Given the description of an element on the screen output the (x, y) to click on. 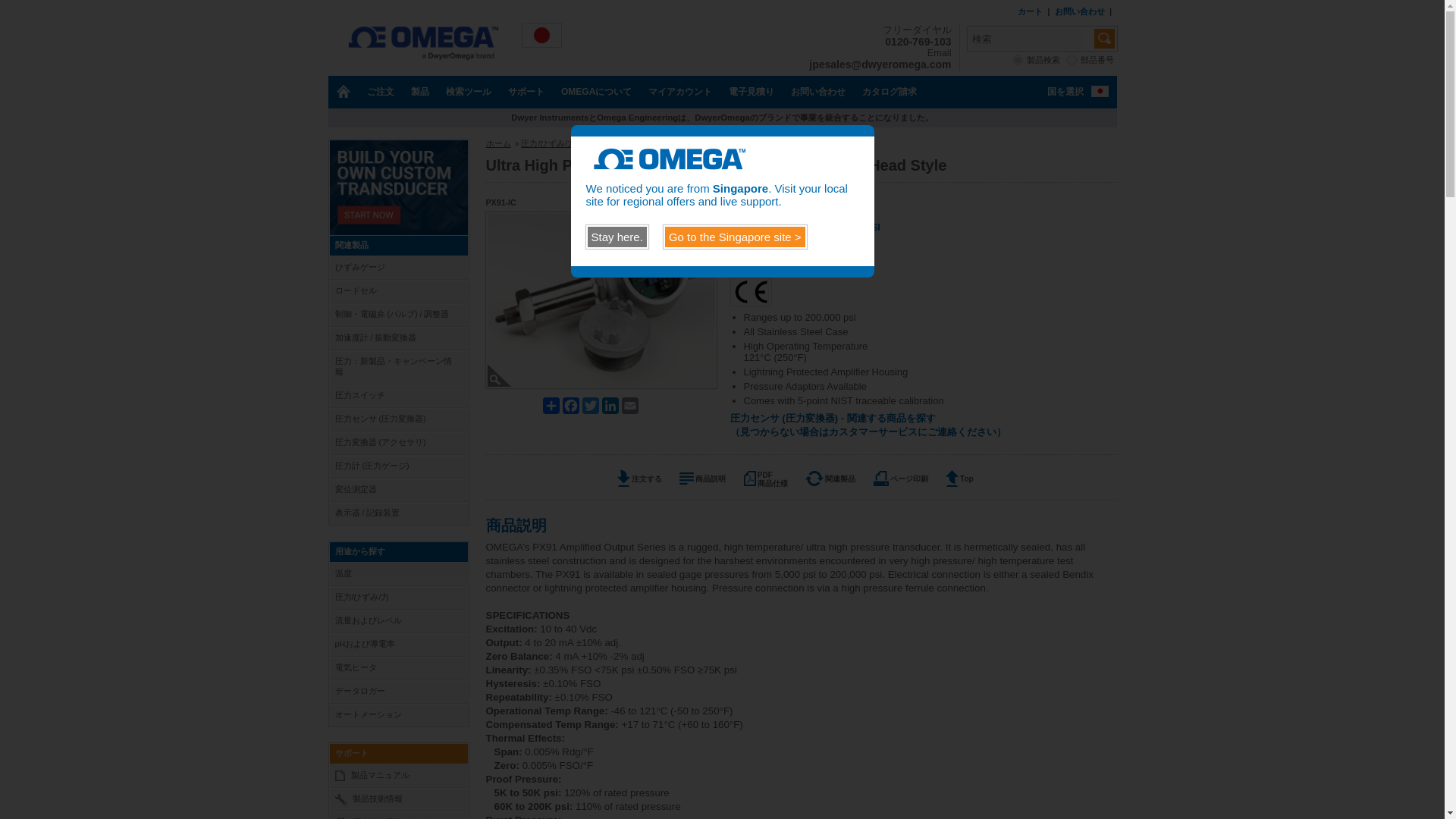
pn (1072, 60)
allomega (1018, 60)
